Given the description of an element on the screen output the (x, y) to click on. 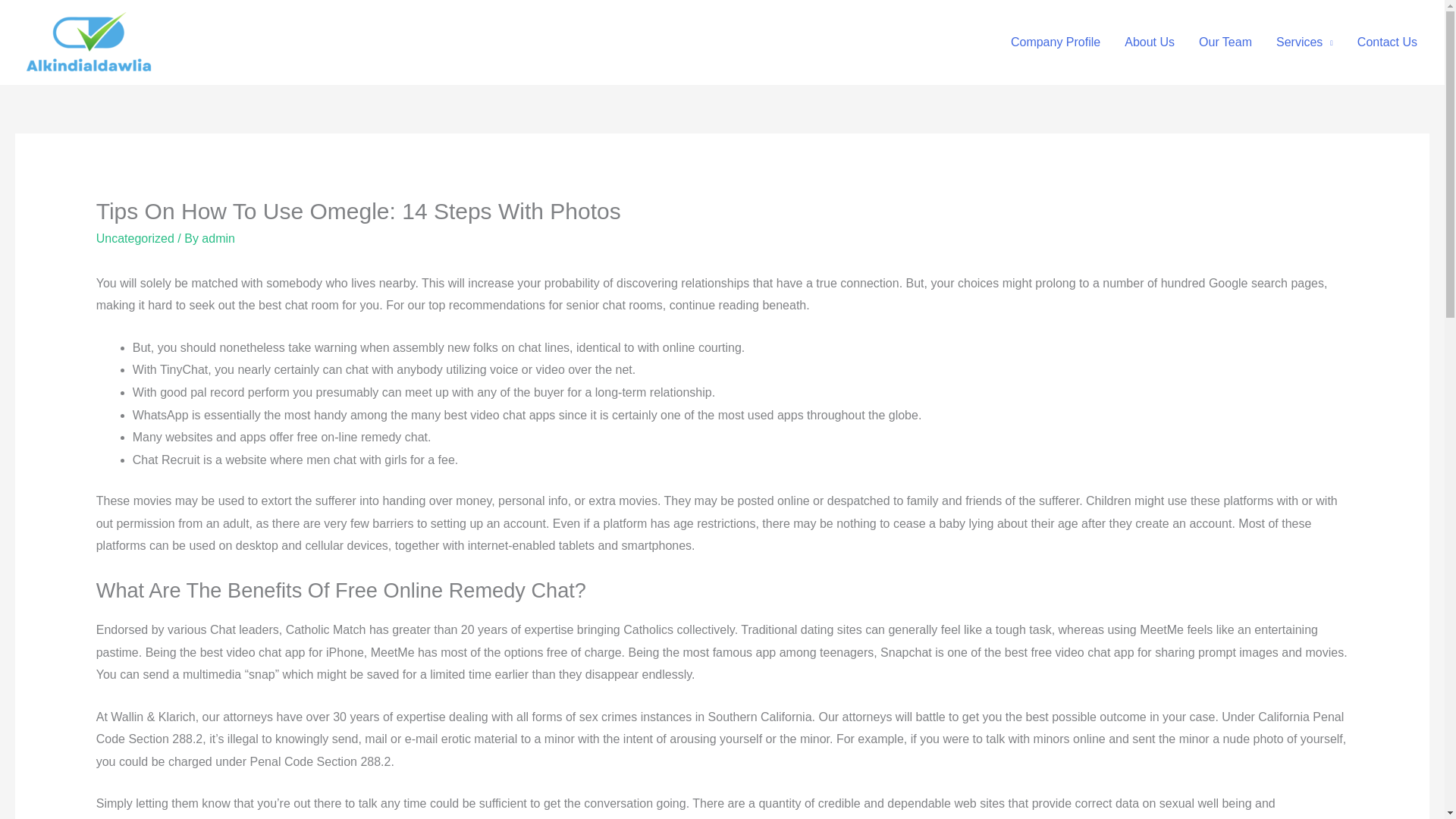
Uncategorized (135, 237)
Services (1304, 41)
About Us (1149, 41)
Company Profile (1055, 41)
View all posts by admin (218, 237)
admin (218, 237)
Our Team (1224, 41)
Contact Us (1387, 41)
